Given the description of an element on the screen output the (x, y) to click on. 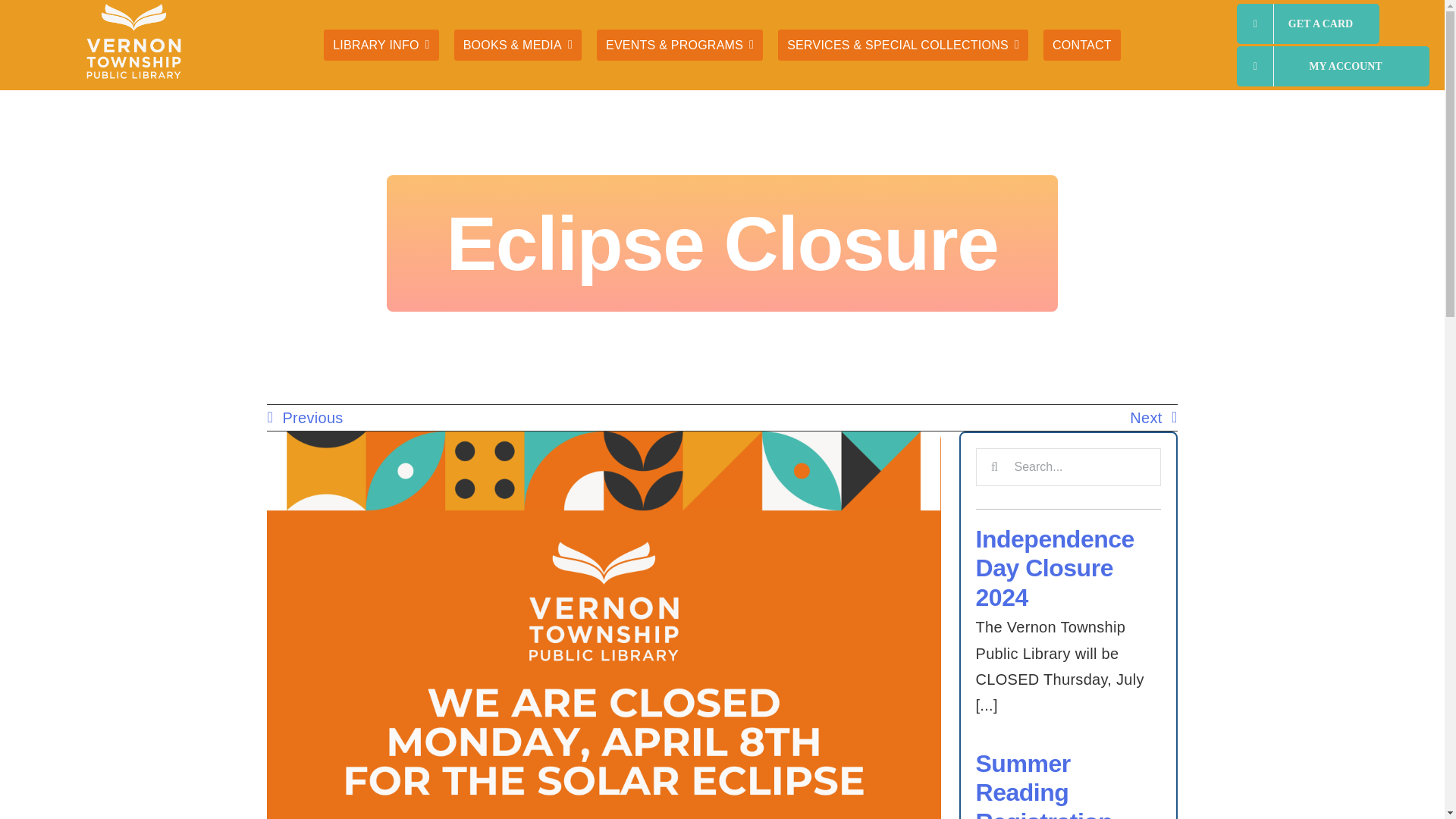
LIBRARY INFO (381, 45)
